Given the description of an element on the screen output the (x, y) to click on. 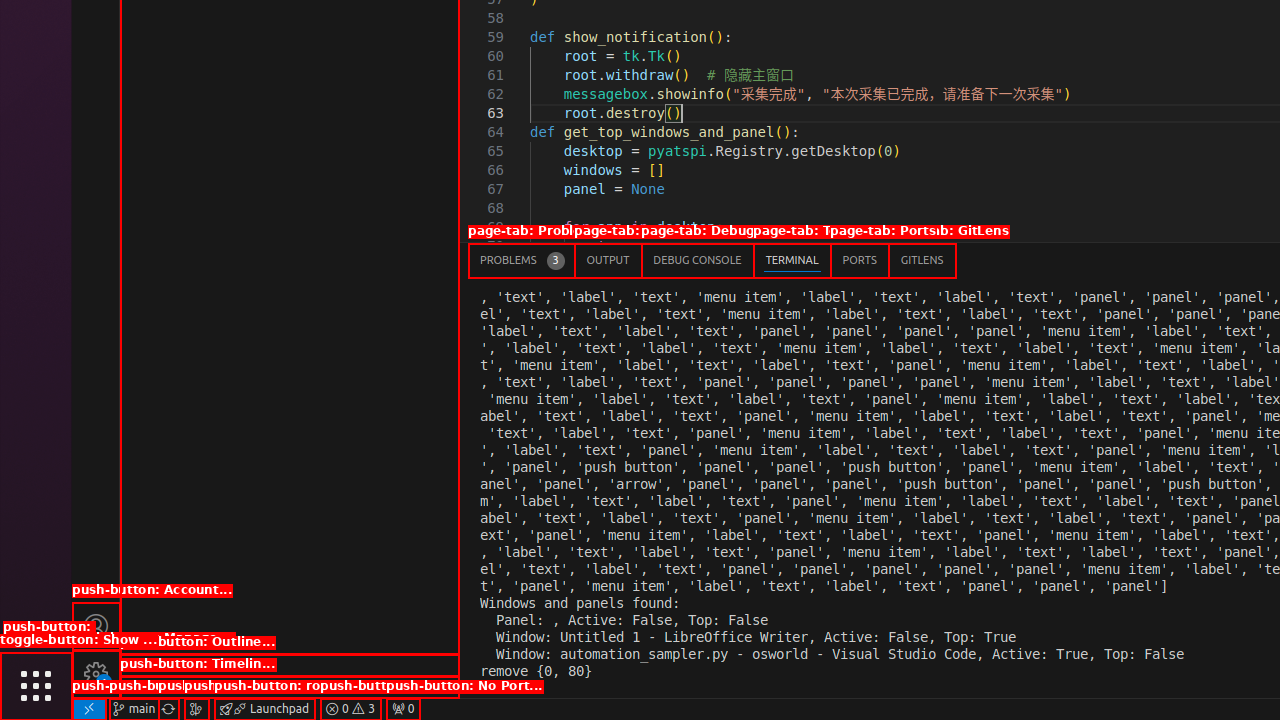
No Ports Forwarded Element type: push-button (403, 709)
Warnings: 3 Element type: push-button (350, 709)
Timeline Section Element type: push-button (289, 687)
Active View Switcher Element type: page-tab-list (712, 260)
